Given the description of an element on the screen output the (x, y) to click on. 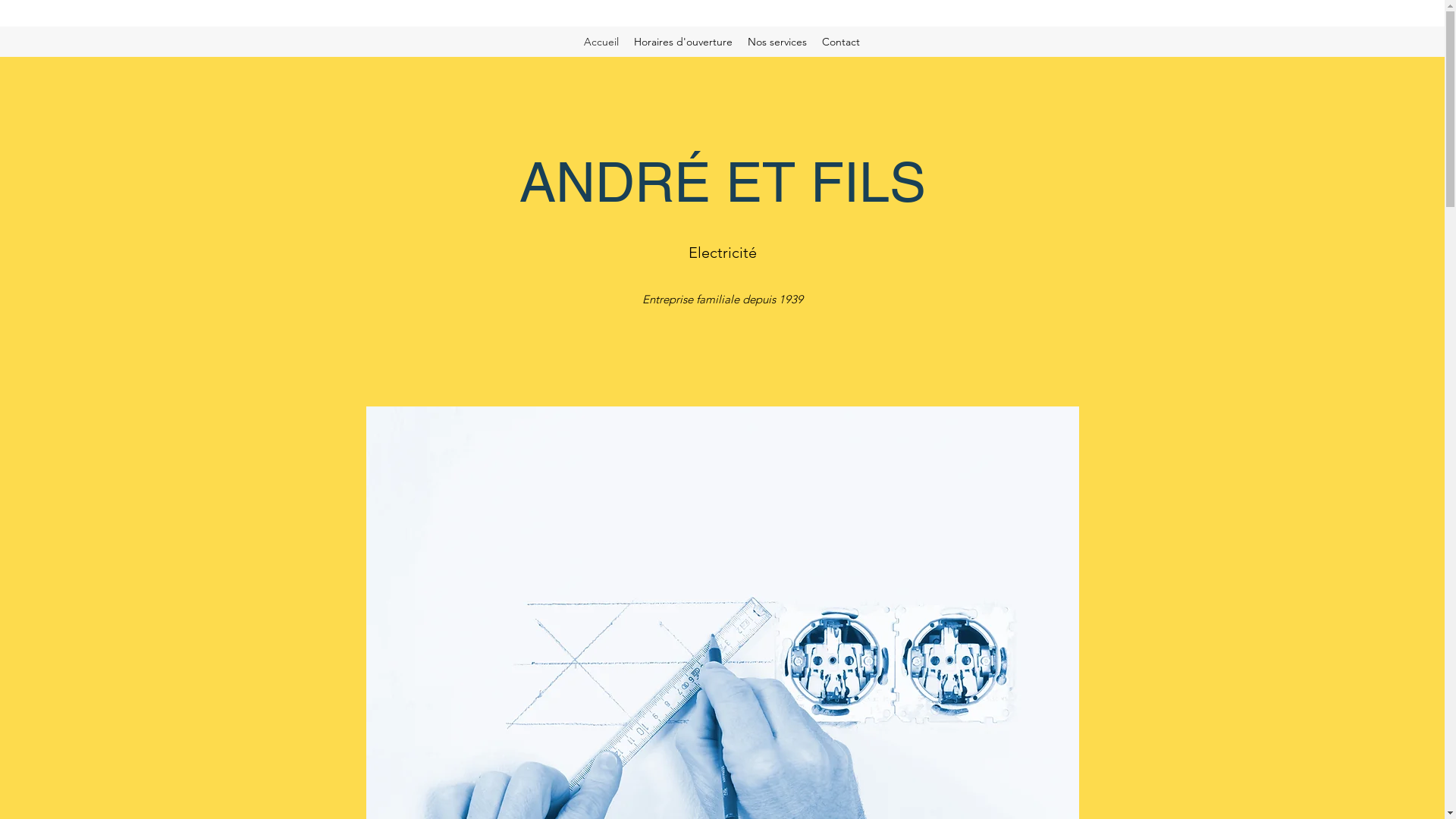
Nos services Element type: text (777, 41)
Accueil Element type: text (601, 41)
Horaires d'ouverture Element type: text (683, 41)
